Given the description of an element on the screen output the (x, y) to click on. 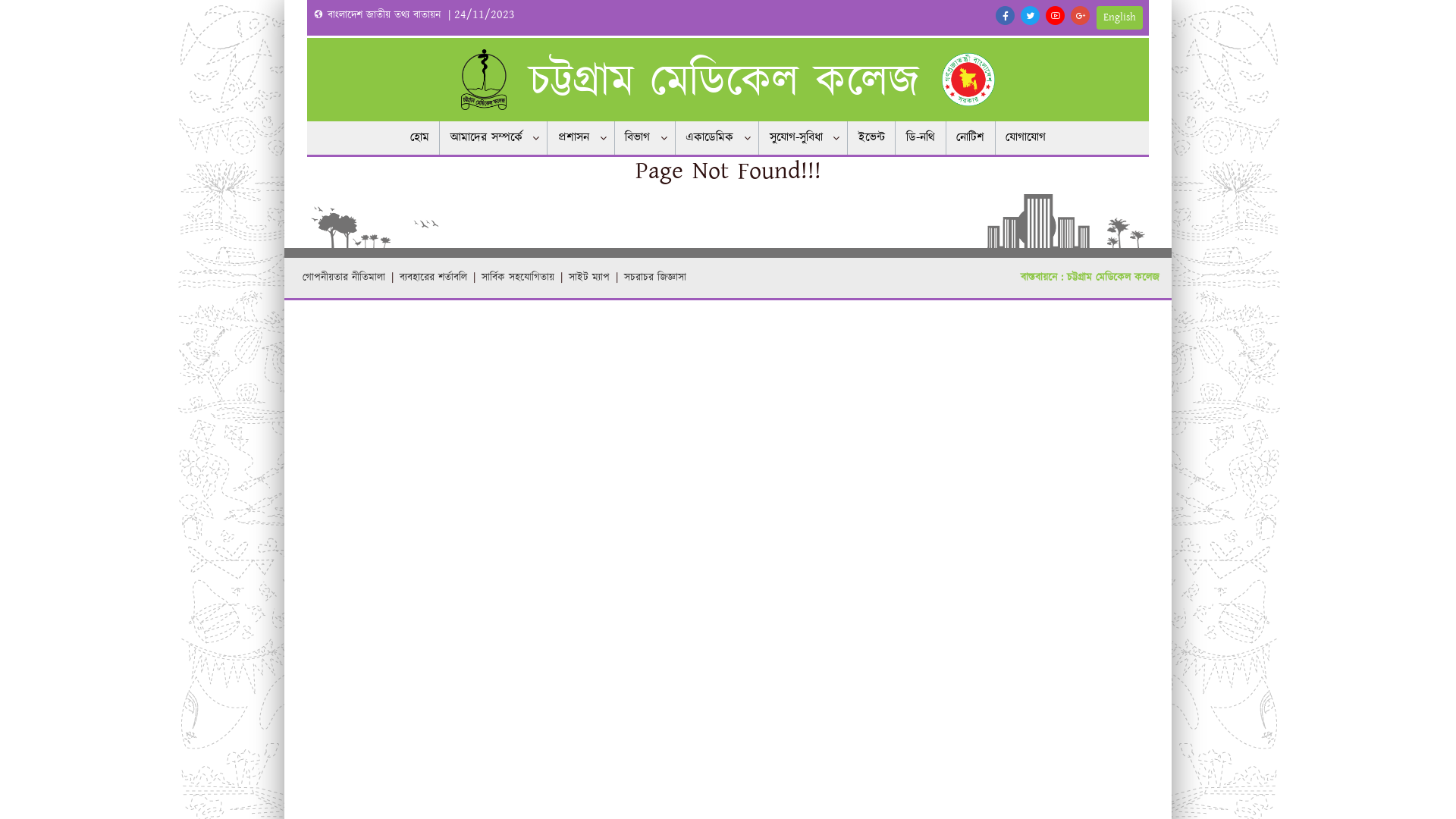
English Element type: text (1119, 17)
